Given the description of an element on the screen output the (x, y) to click on. 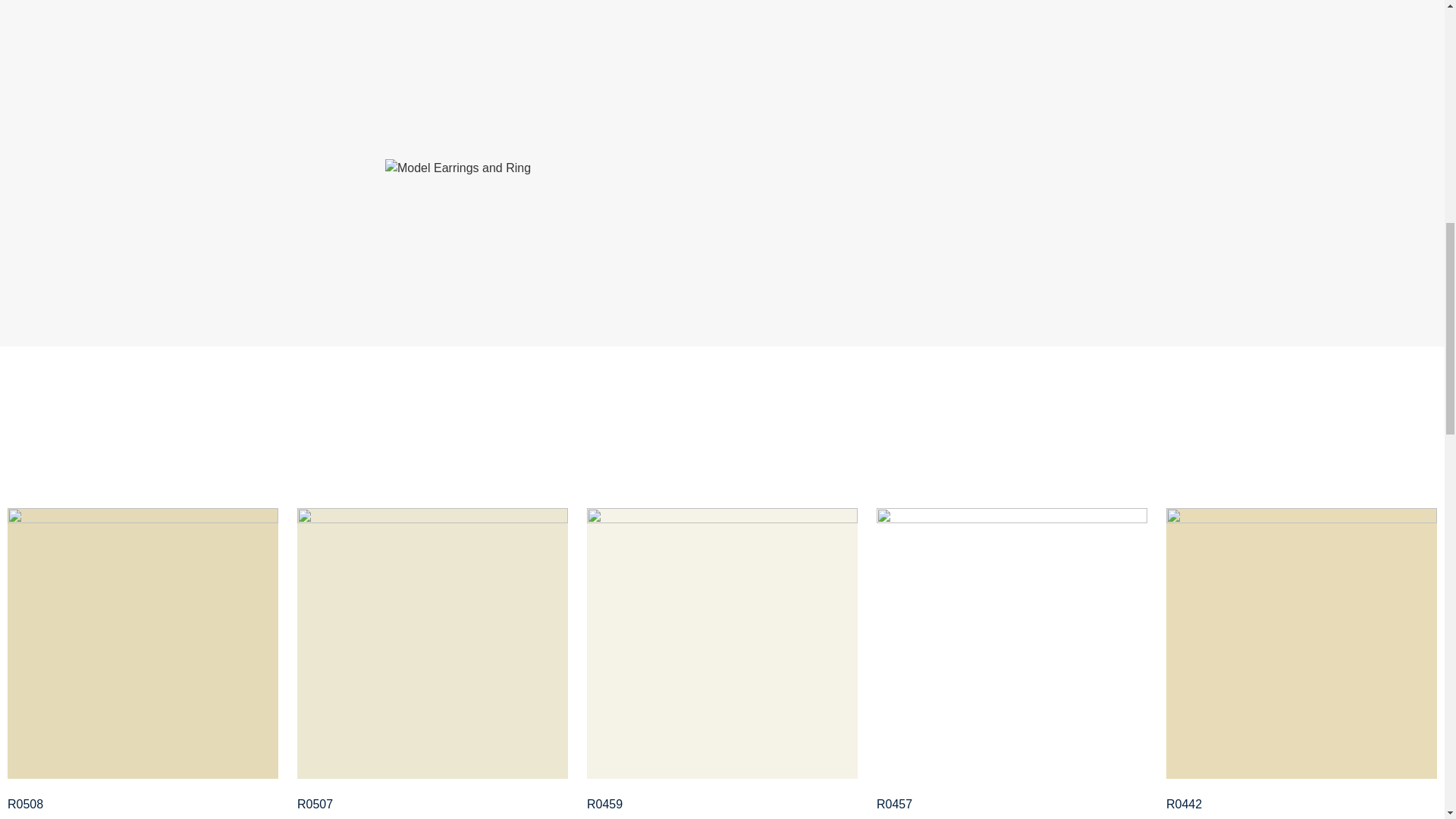
Model Earrings and Ring (458, 167)
